Given the description of an element on the screen output the (x, y) to click on. 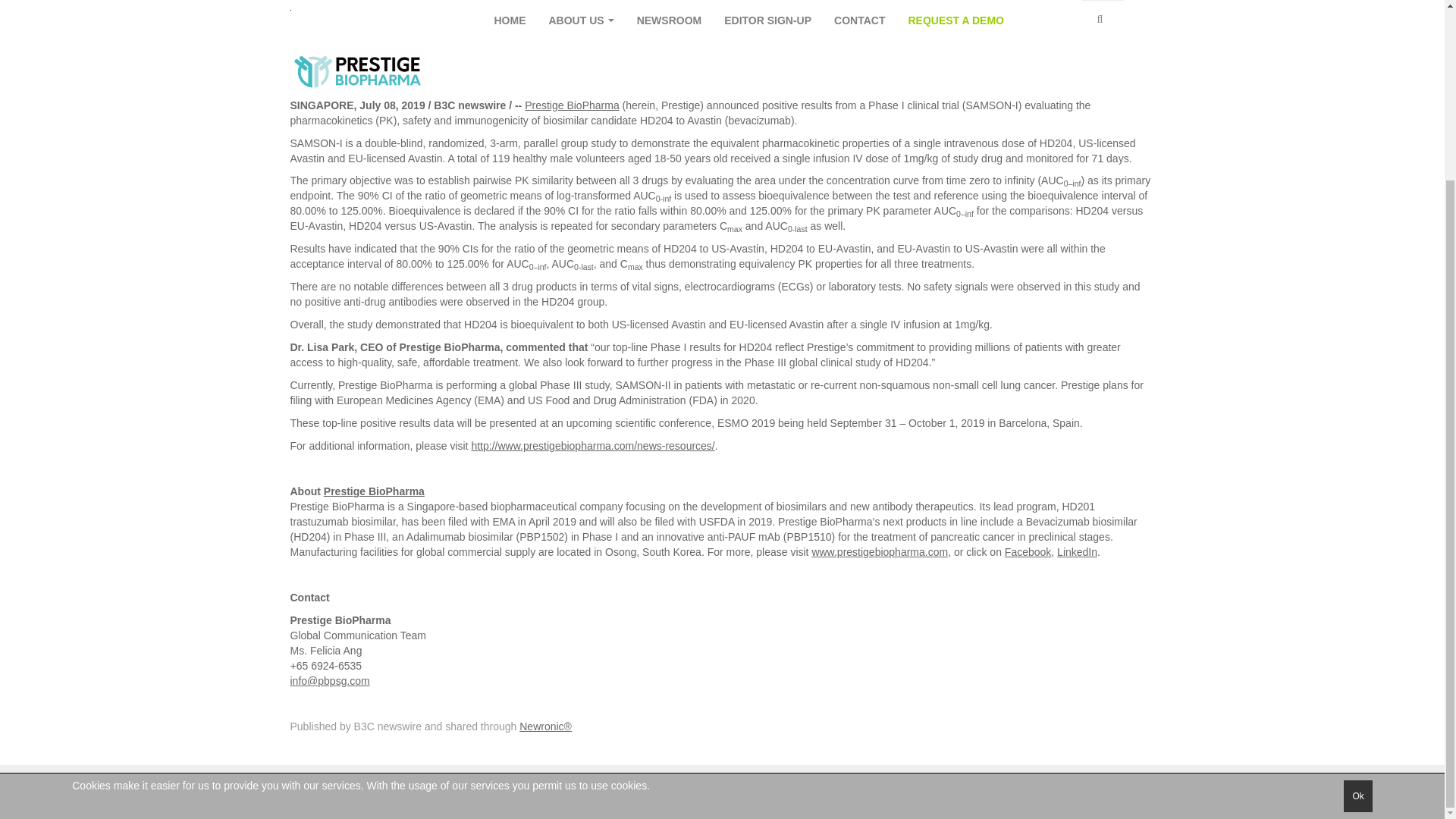
www.prestigebiopharma.com (878, 551)
Facebook (1027, 551)
Prestige BioPharma (572, 105)
Empty (1142, 17)
LinkedIn (1077, 551)
Prestige BioPharma (374, 491)
